Given the description of an element on the screen output the (x, y) to click on. 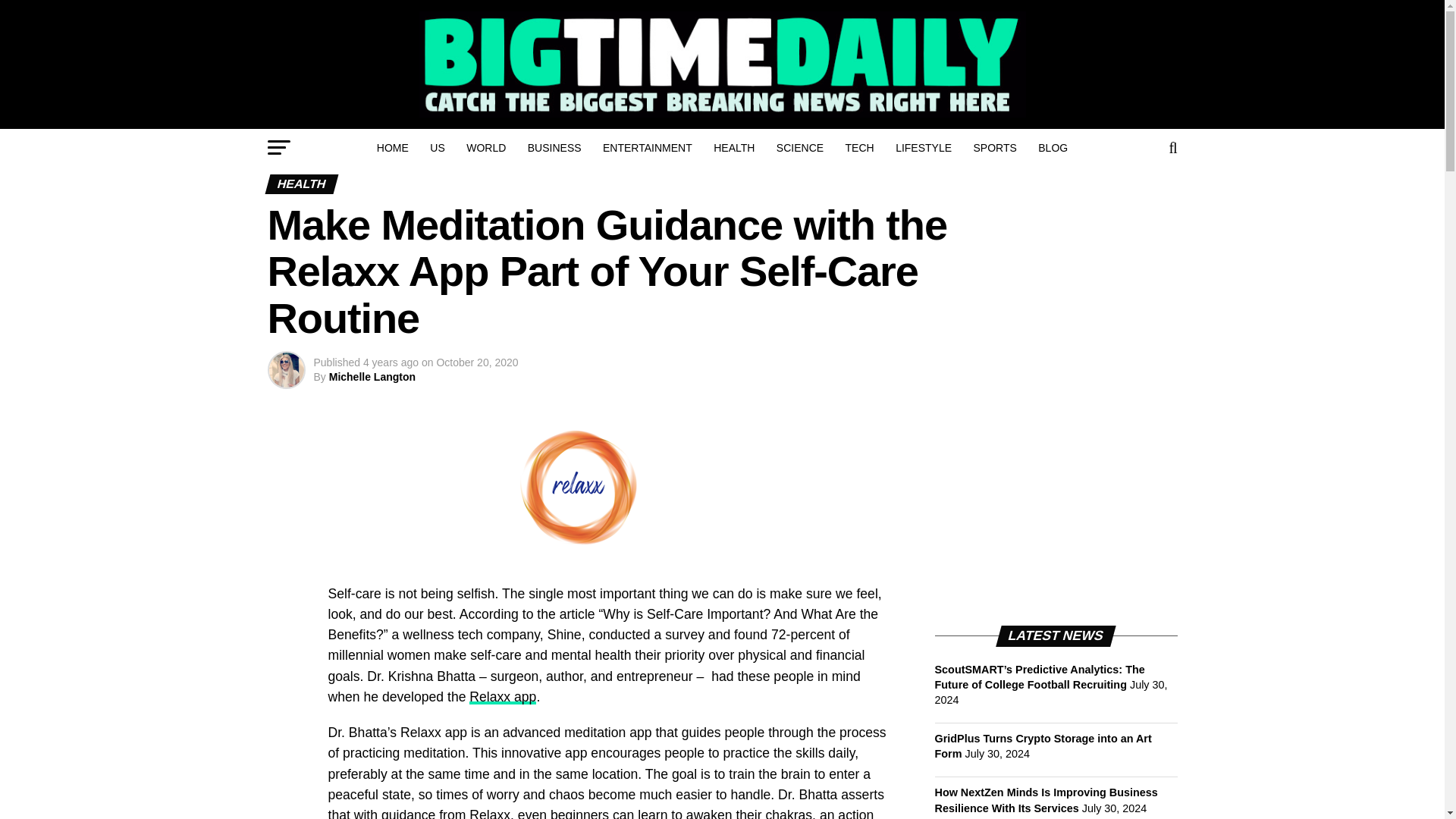
SCIENCE (799, 147)
ENTERTAINMENT (647, 147)
SPORTS (994, 147)
Michelle Langton (371, 377)
WORLD (486, 147)
Advertisement (1047, 506)
Relaxx app (501, 696)
Posts by Michelle Langton (371, 377)
HEALTH (733, 147)
BUSINESS (554, 147)
LIFESTYLE (923, 147)
BLOG (1053, 147)
HOME (392, 147)
TECH (859, 147)
